Given the description of an element on the screen output the (x, y) to click on. 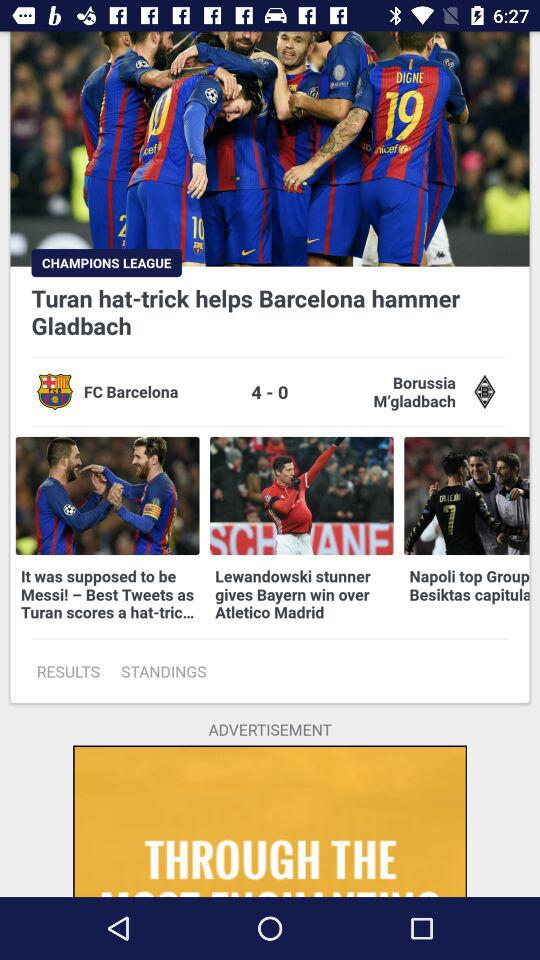
link to advertisement (269, 821)
